Given the description of an element on the screen output the (x, y) to click on. 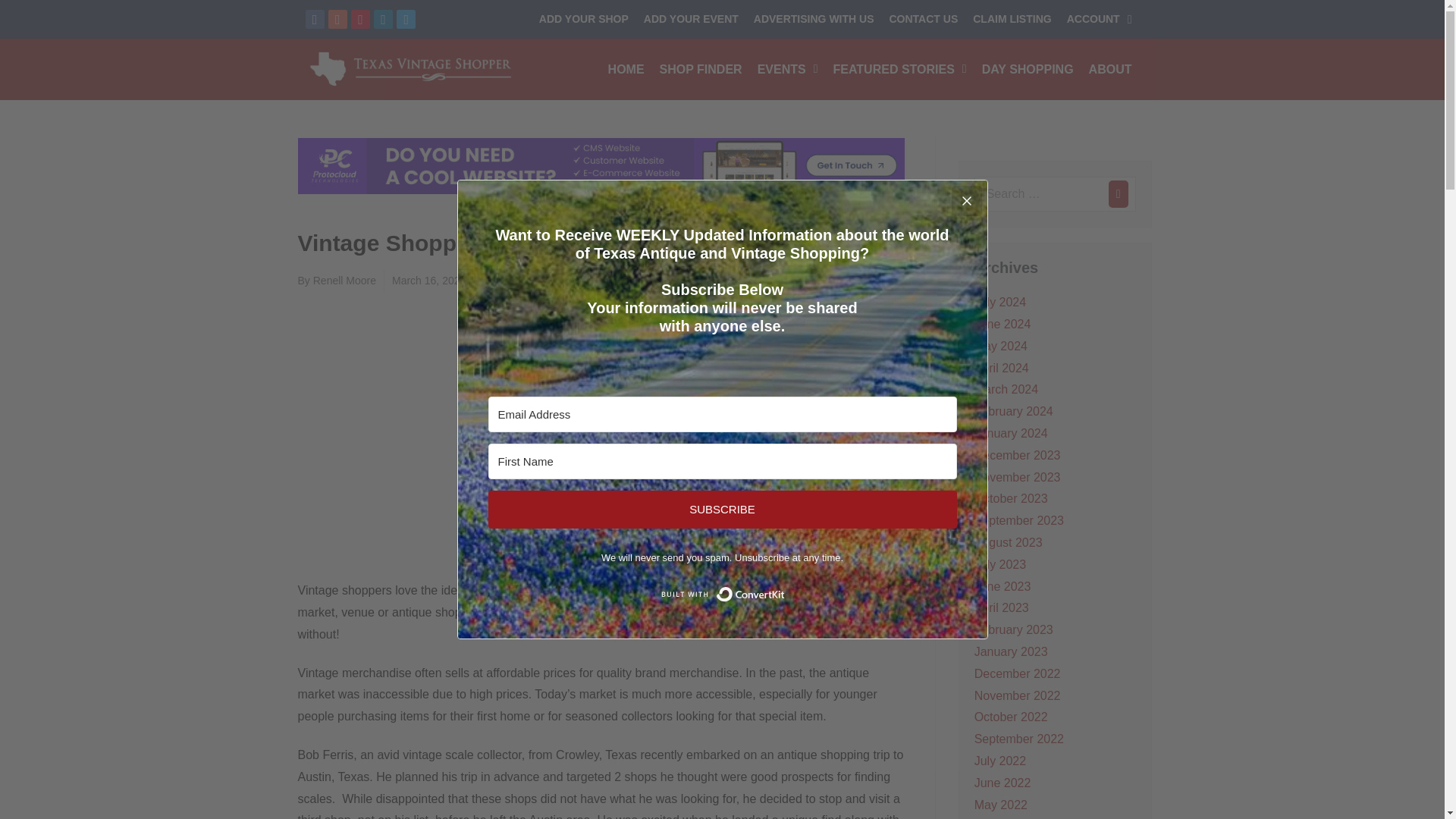
ABOUT (1110, 68)
Press enter to search (1054, 193)
ACCOUNT (1099, 19)
ADVERTISING WITH US (813, 19)
HOME (625, 68)
SHOP FINDER (700, 68)
CLAIM LISTING (1011, 19)
CONTACT US (922, 19)
FEATURED STORIES (899, 68)
DAY SHOPPING (1027, 68)
ADD YOUR EVENT (690, 19)
ADD YOUR SHOP (583, 19)
EVENTS (787, 68)
